Given the description of an element on the screen output the (x, y) to click on. 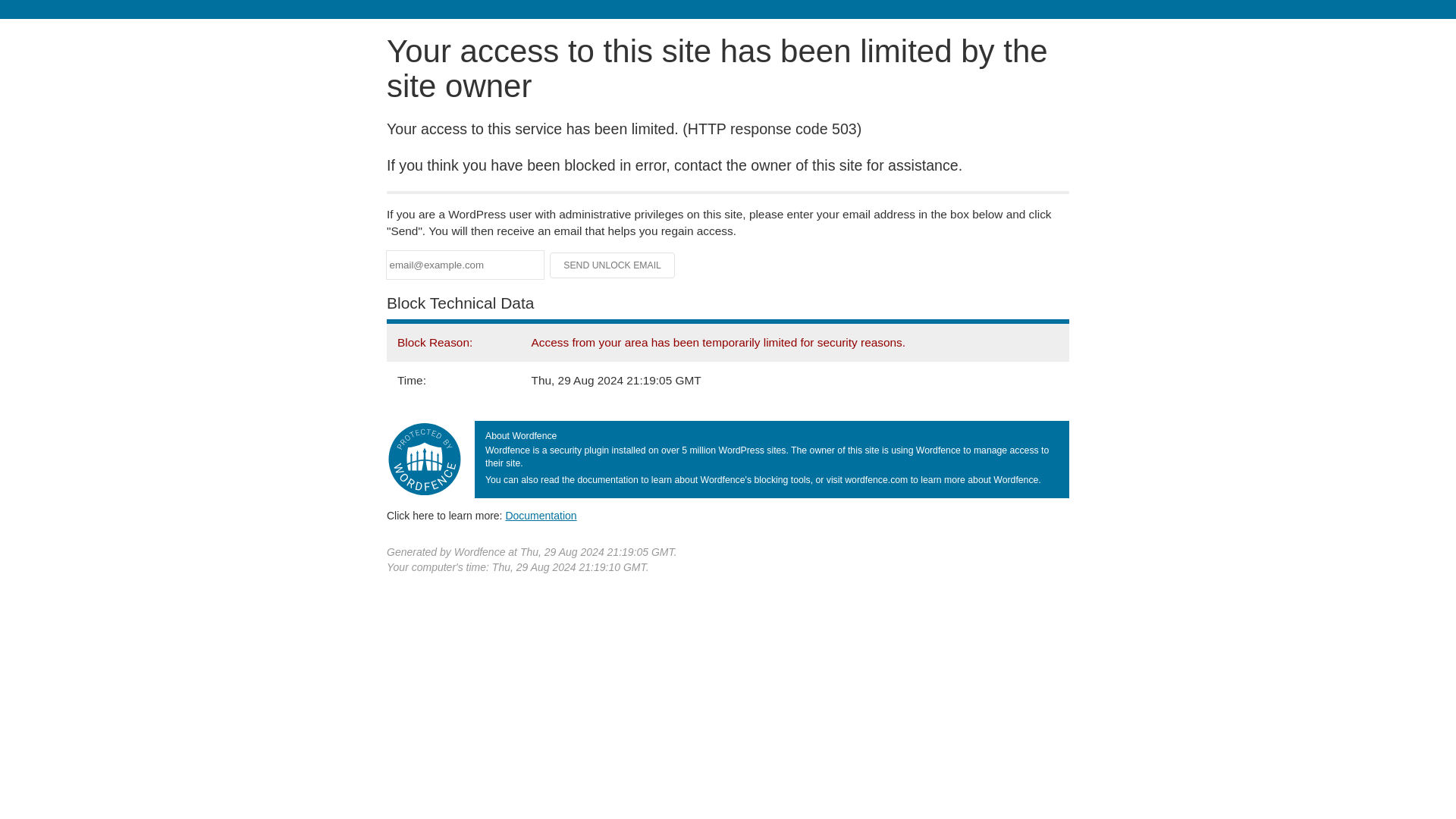
Send Unlock Email (612, 265)
Send Unlock Email (612, 265)
Documentation (540, 515)
